Given the description of an element on the screen output the (x, y) to click on. 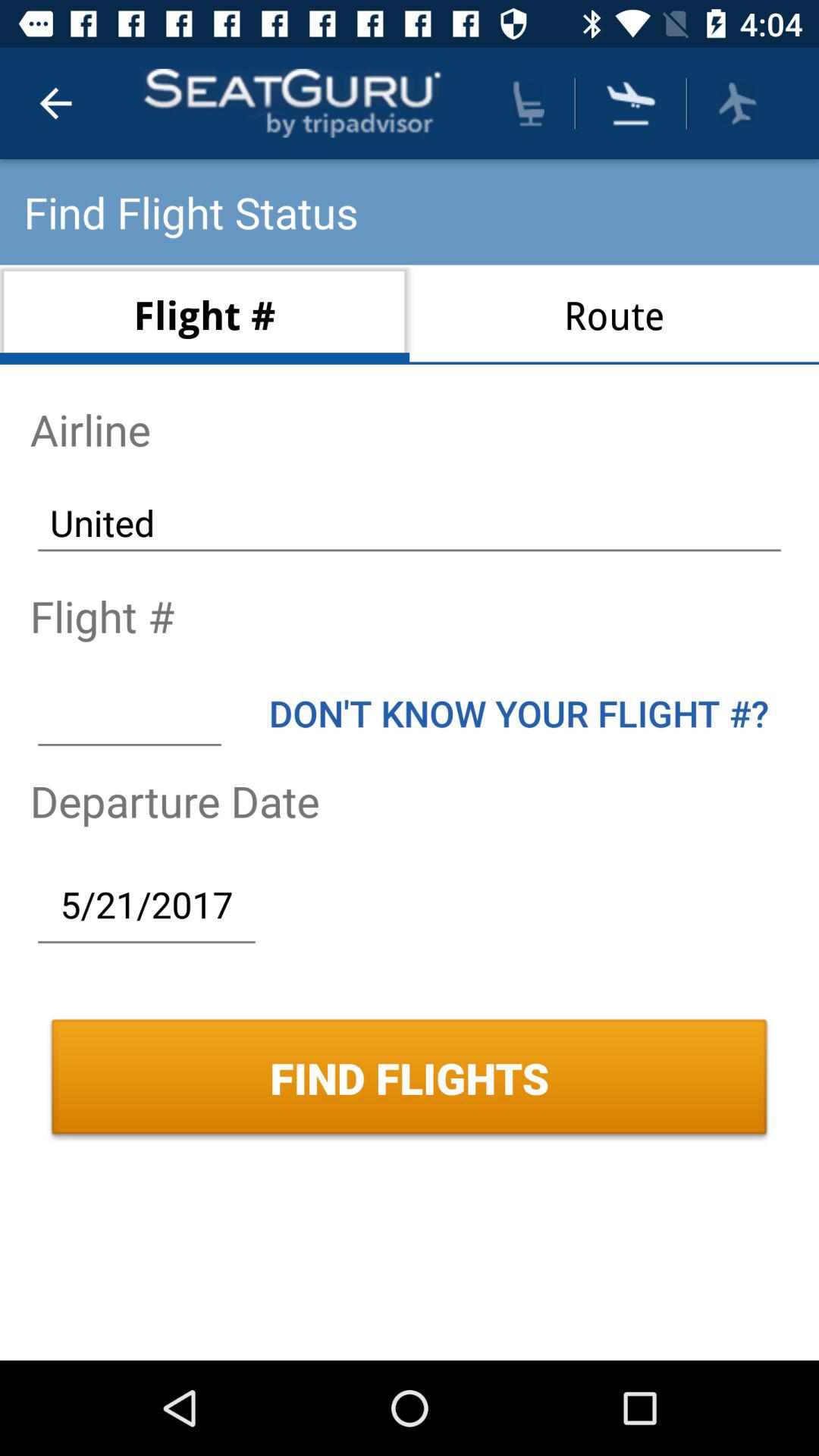
turn on the item below flight # (129, 712)
